Given the description of an element on the screen output the (x, y) to click on. 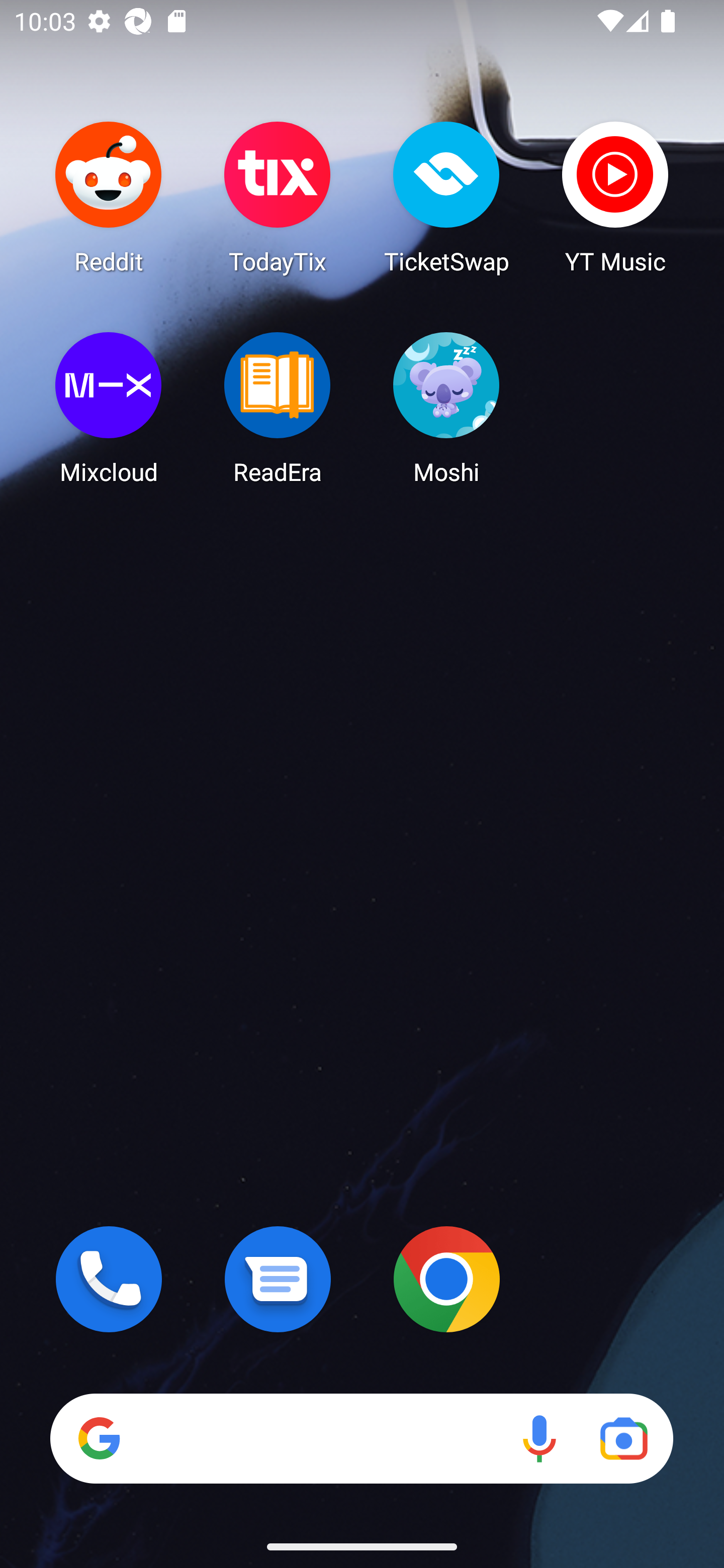
Reddit (108, 196)
TodayTix (277, 196)
TicketSwap (445, 196)
YT Music (615, 196)
Mixcloud (108, 407)
ReadEra (277, 407)
Moshi (445, 407)
Phone (108, 1279)
Messages (277, 1279)
Chrome (446, 1279)
Search Voice search Google Lens (361, 1438)
Voice search (539, 1438)
Google Lens (623, 1438)
